Given the description of an element on the screen output the (x, y) to click on. 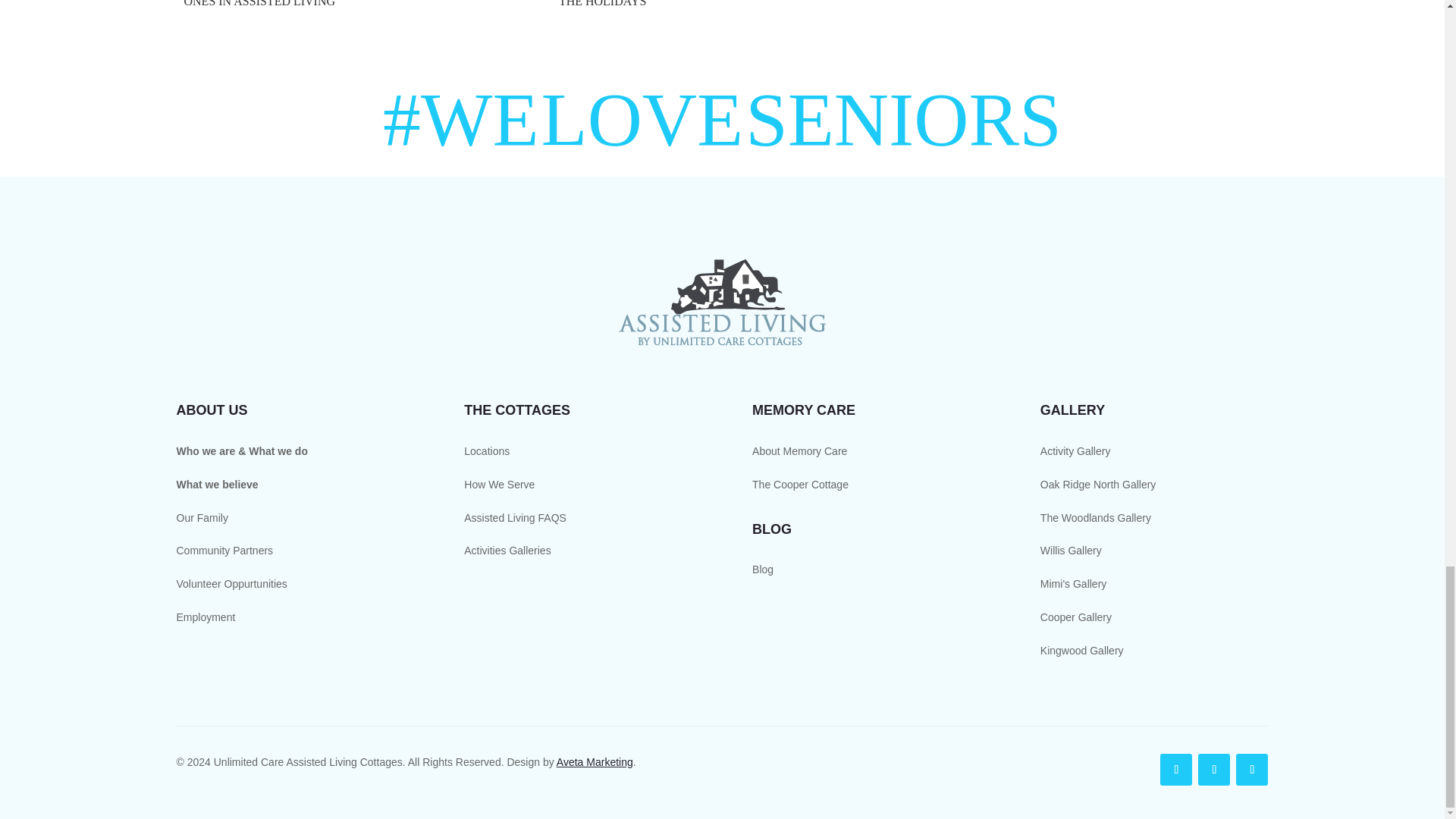
Assisted Living for Couples (1097, 2)
logo (722, 302)
Follow on X (1214, 769)
Follow on Instagram (1252, 769)
Follow on Facebook (1176, 769)
